Given the description of an element on the screen output the (x, y) to click on. 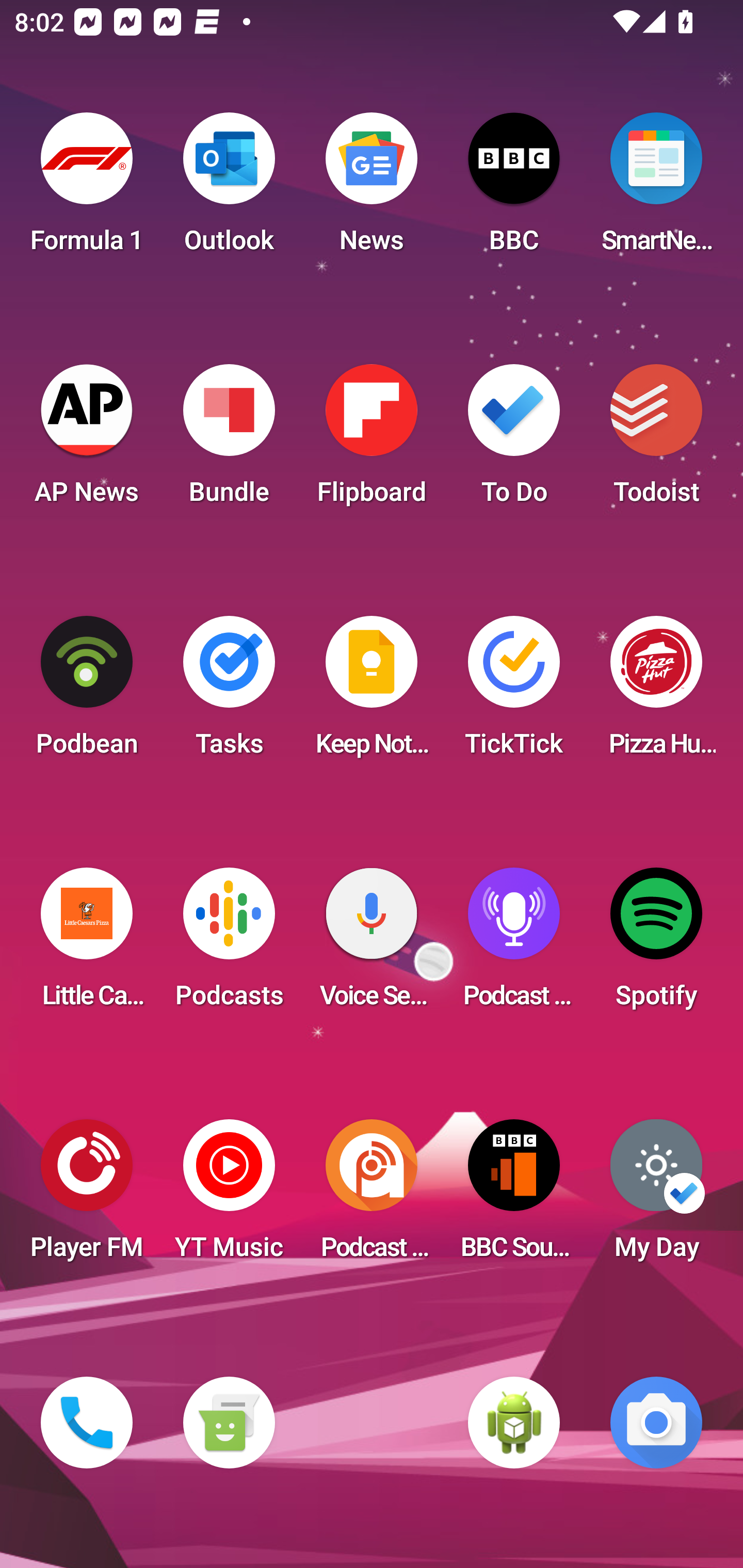
Formula 1 (86, 188)
Outlook (228, 188)
News (371, 188)
BBC (513, 188)
SmartNews (656, 188)
AP News (86, 440)
Bundle (228, 440)
Flipboard (371, 440)
To Do (513, 440)
Todoist (656, 440)
Podbean (86, 692)
Tasks (228, 692)
Keep Notes (371, 692)
TickTick (513, 692)
Pizza Hut HK & Macau (656, 692)
Little Caesars Pizza (86, 943)
Podcasts (228, 943)
Voice Search (371, 943)
Podcast Player (513, 943)
Spotify (656, 943)
Player FM (86, 1195)
YT Music (228, 1195)
Podcast Addict (371, 1195)
BBC Sounds (513, 1195)
My Day (656, 1195)
Phone (86, 1422)
Messaging (228, 1422)
WebView Browser Tester (513, 1422)
Camera (656, 1422)
